Given the description of an element on the screen output the (x, y) to click on. 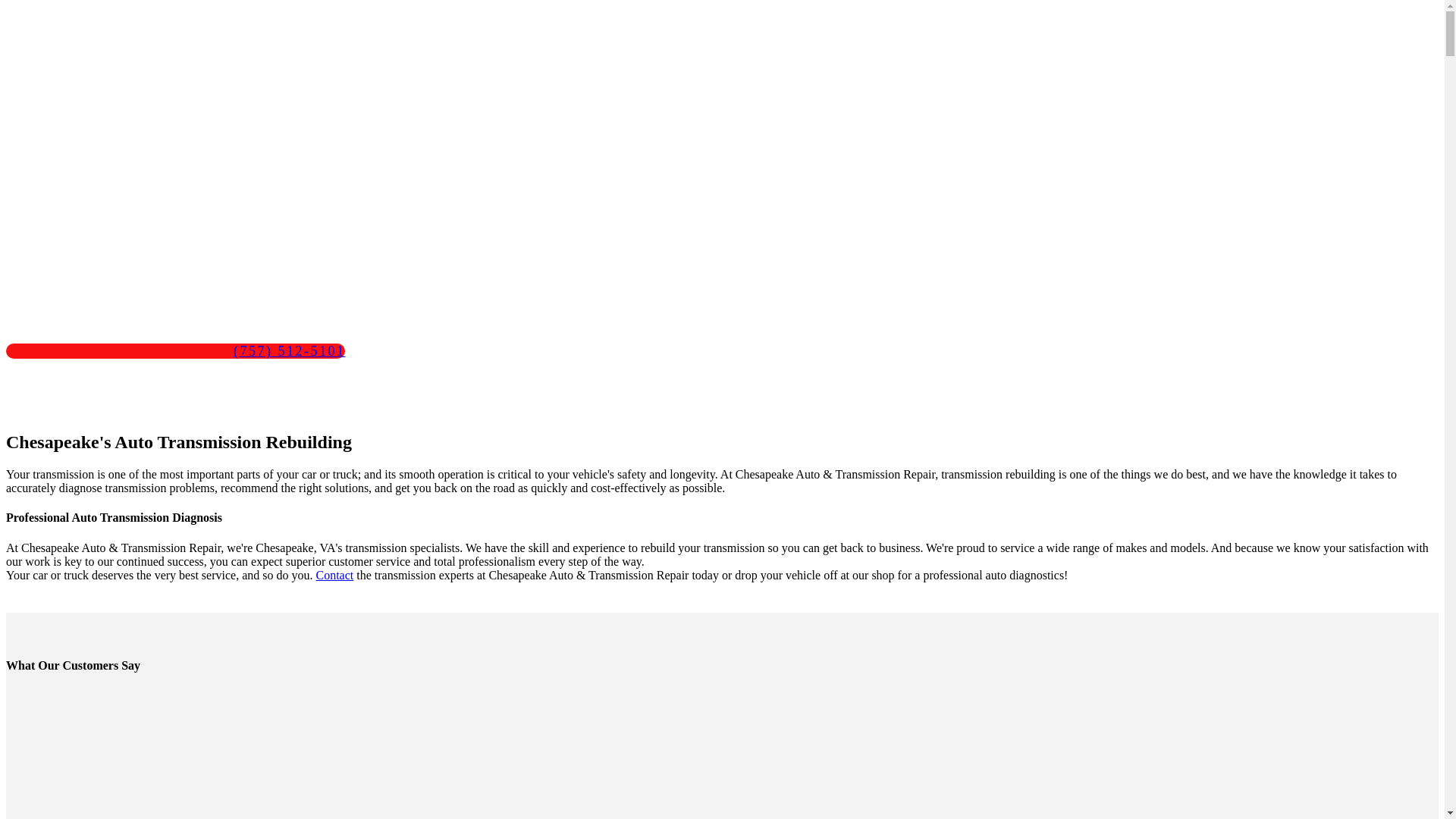
Contact (334, 574)
